Given the description of an element on the screen output the (x, y) to click on. 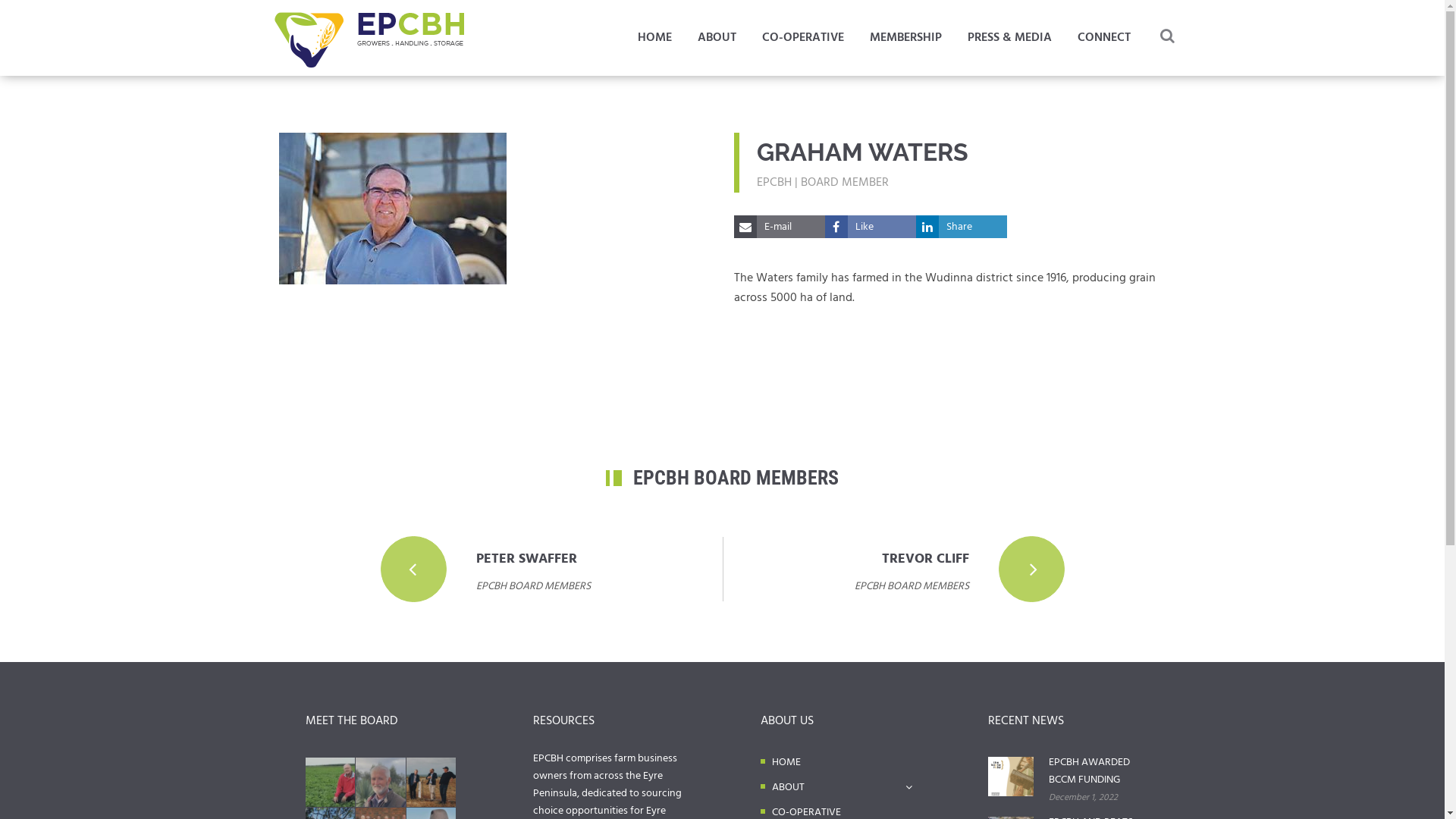
ABOUT Element type: text (716, 37)
EPCBH AWARDED BCCM FUNDING Element type: text (1093, 770)
Share Element type: text (961, 226)
BRIAN-WATERS Element type: hover (392, 208)
PETER SWAFFER Element type: text (526, 559)
MEMBERSHIP Element type: text (905, 37)
HOME Element type: text (654, 37)
Like Element type: text (870, 226)
ABOUT Element type: text (841, 787)
PRESS & MEDIA Element type: text (1009, 37)
HOME Element type: text (841, 762)
E-mail Element type: text (779, 226)
CONNECT Element type: text (1102, 37)
CO-OPERATIVE Element type: text (802, 37)
TREVOR CLIFF Element type: text (924, 559)
